Given the description of an element on the screen output the (x, y) to click on. 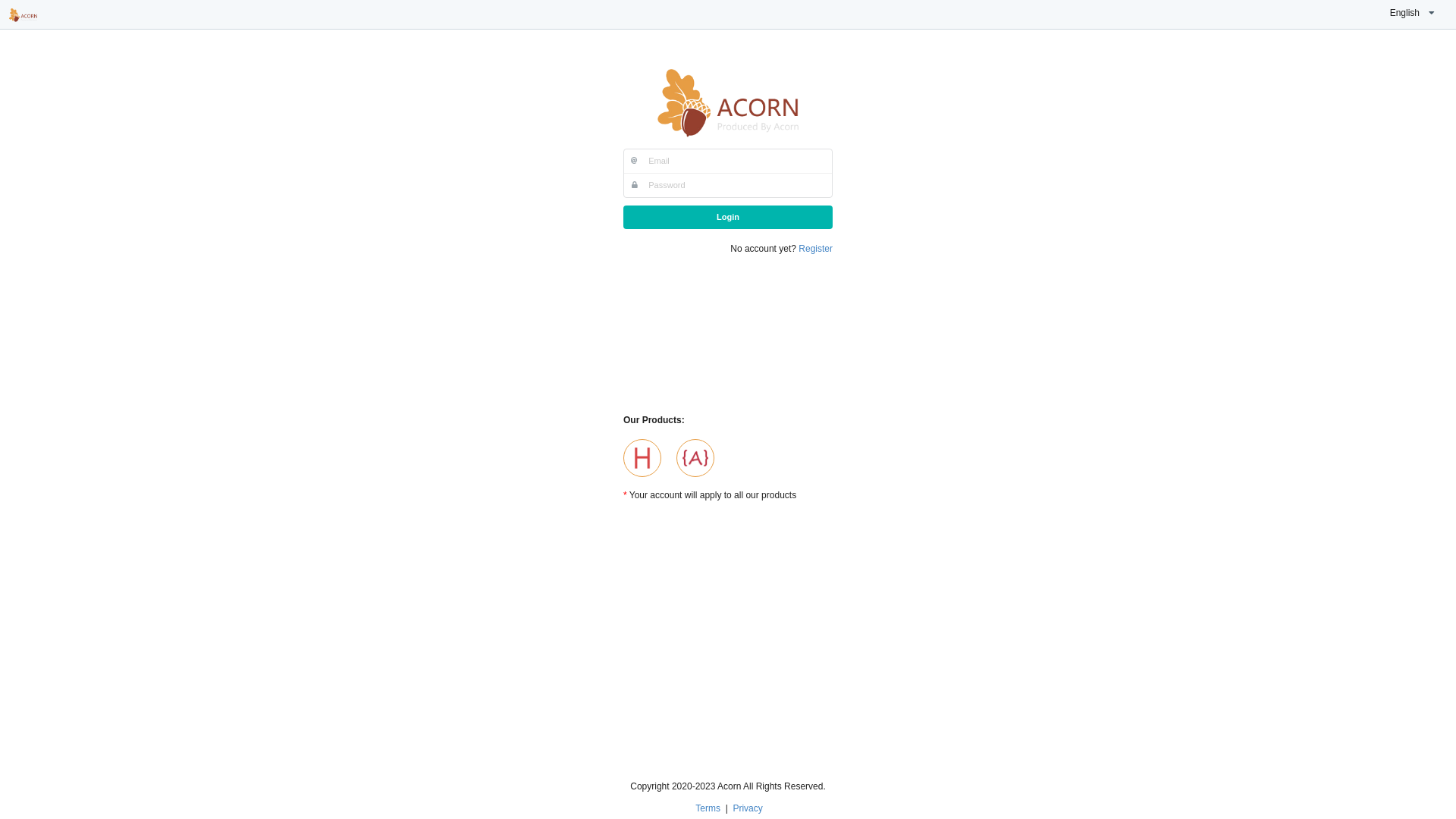
hello Element type: hover (642, 457)
Privacy Element type: text (747, 808)
api-mom Element type: hover (695, 457)
Terms Element type: text (708, 808)
Register Element type: text (815, 248)
